Given the description of an element on the screen output the (x, y) to click on. 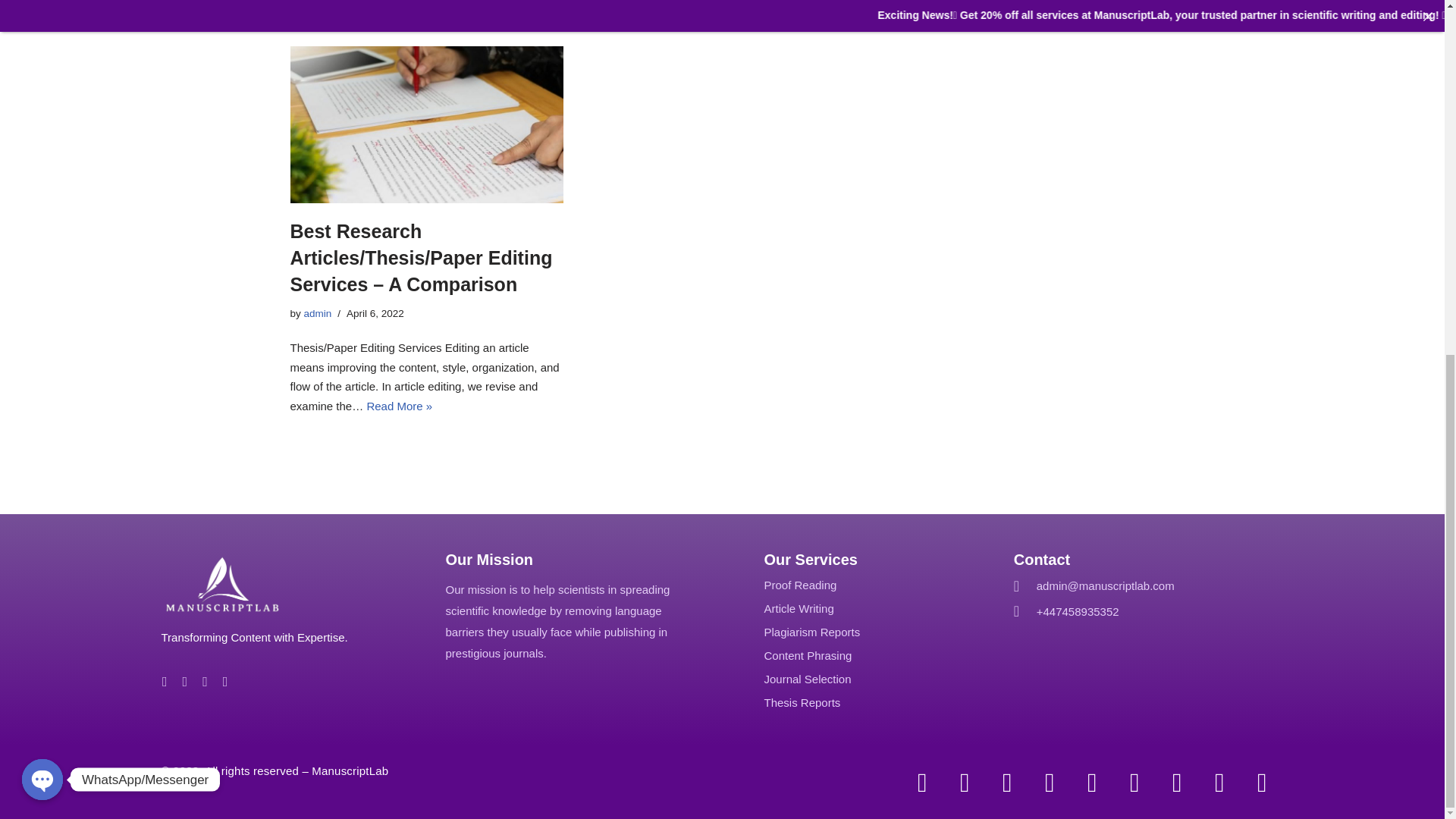
Posts by admin (317, 313)
